Given the description of an element on the screen output the (x, y) to click on. 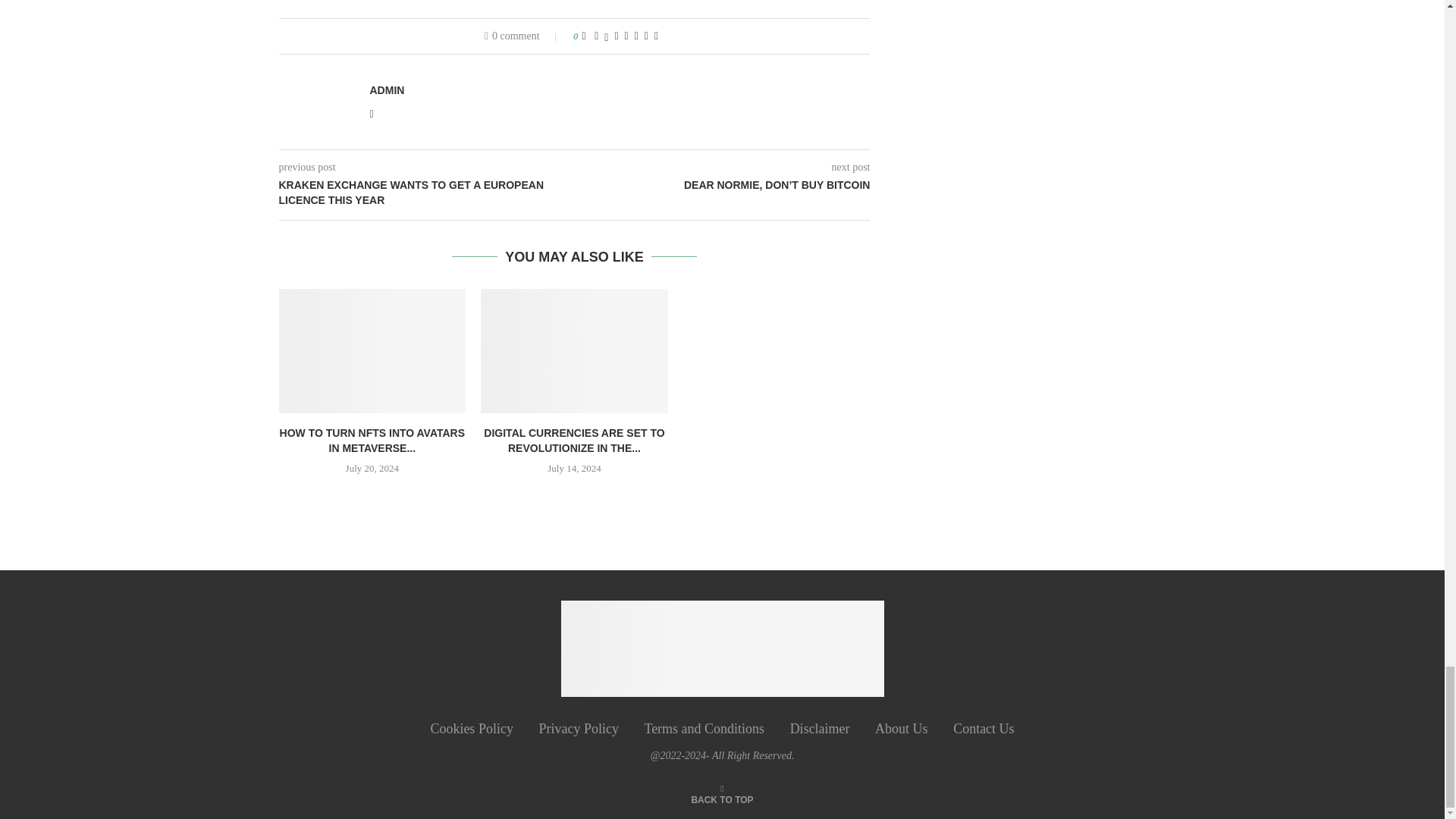
ADMIN (386, 90)
KRAKEN EXCHANGE WANTS TO GET A EUROPEAN LICENCE THIS YEAR (427, 193)
How to turn NFTs into Avatars in Metaverse Digital World (372, 351)
Digital Currencies Are Set To Revolutionize in the Future (574, 351)
HOW TO TURN NFTS INTO AVATARS IN METAVERSE... (371, 440)
Author Admin (386, 90)
DIGITAL CURRENCIES ARE SET TO REVOLUTIONIZE IN THE... (573, 440)
